Given the description of an element on the screen output the (x, y) to click on. 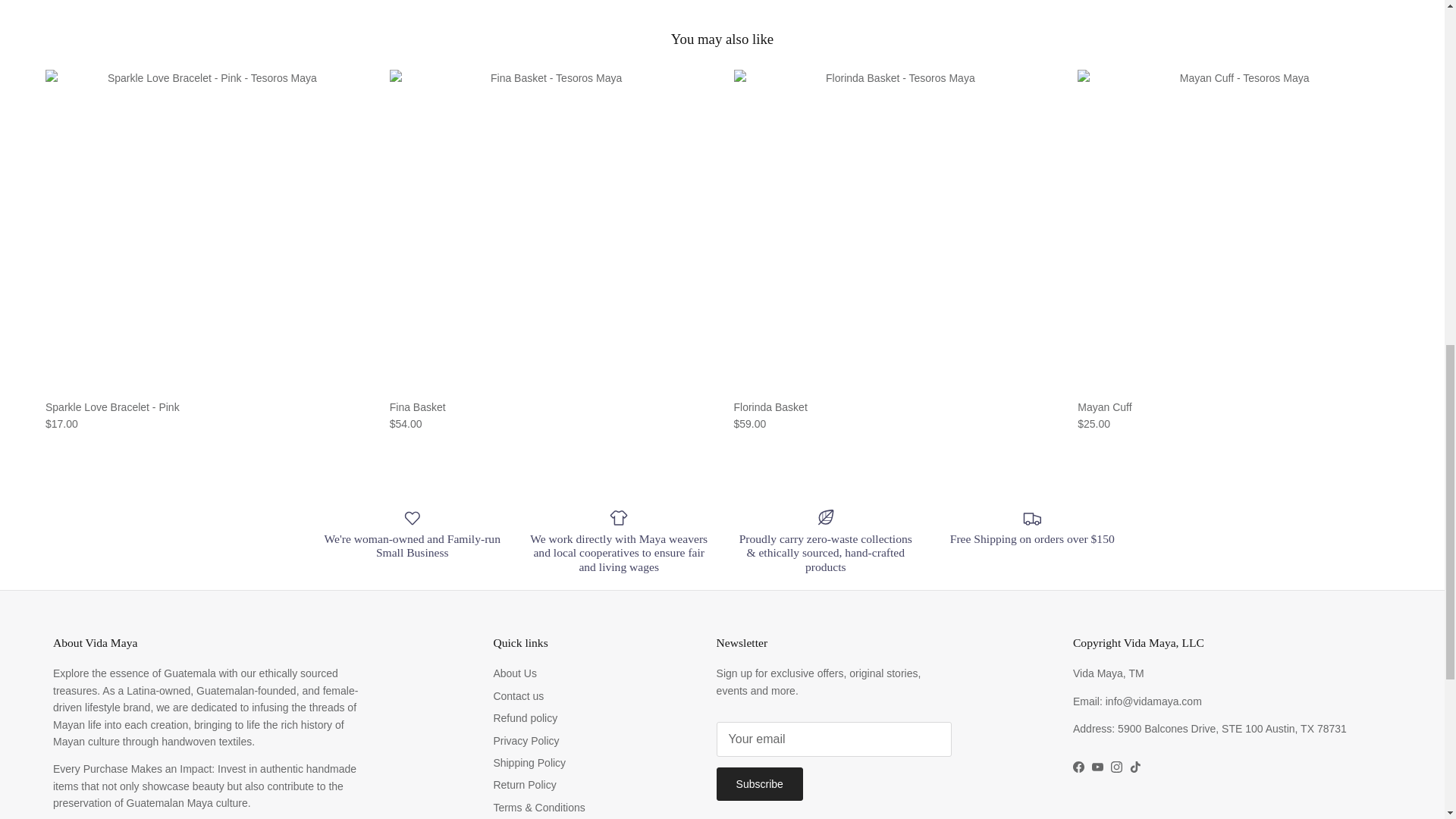
Vida Maya  on Facebook (1078, 767)
Vida Maya  on Instagram (1116, 767)
Vida Maya  on TikTok (1135, 767)
Vida Maya  on YouTube (1097, 767)
